Given the description of an element on the screen output the (x, y) to click on. 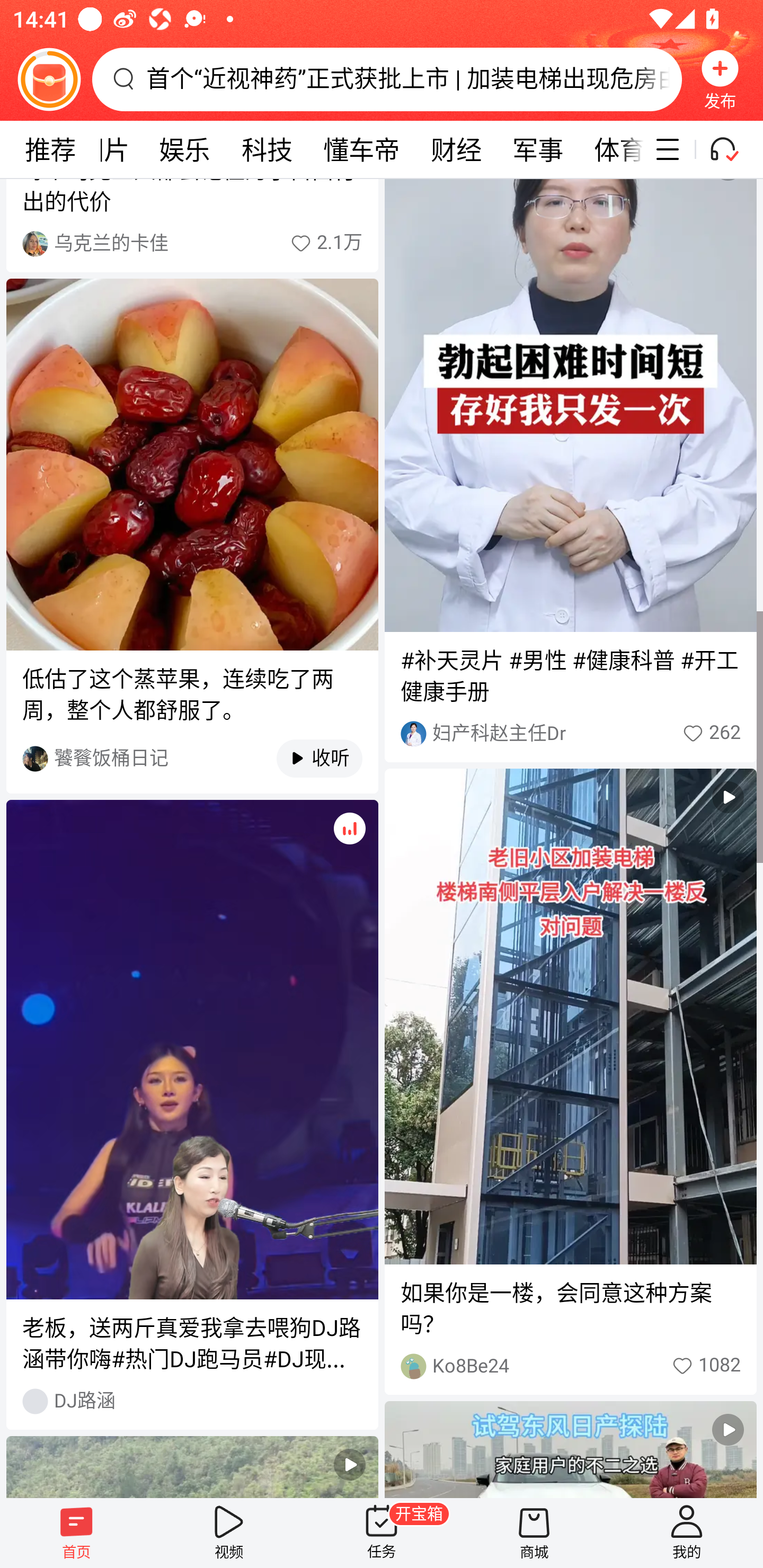
阅读赚金币 (48, 79)
发布 发布，按钮 (720, 78)
推荐 (49, 149)
娱乐 (184, 149)
科技 (266, 149)
懂车帝 (361, 149)
财经 (456, 149)
军事 (537, 149)
体育 (610, 149)
听一听开关 (732, 149)
作者,乌克兰的卡佳,按钮 乌克兰的卡佳 赞2.1万 赞 (192, 243)
低估了这个蒸苹果，连续吃了两周，整个人都舒服了。  作者,饕餮饭桶日记,按钮 饕餮饭桶日记 收听 (192, 536)
作者,妇产科赵主任Dr,按钮 妇产科赵主任Dr 赞262 赞 (570, 733)
作者,饕餮饭桶日记,按钮 饕餮饭桶日记 收听 (192, 757)
收听 (309, 758)
视频 如果你是一楼，会同意这种方案吗？  作者,Ko8Be24,按钮 Ko8Be24 赞1082 赞 (570, 1081)
作者,Ko8Be24,按钮 Ko8Be24 赞1082 赞 (570, 1366)
首页 (76, 1532)
视频 (228, 1532)
任务 开宝箱 (381, 1532)
商城 (533, 1532)
我的 (686, 1532)
